Given the description of an element on the screen output the (x, y) to click on. 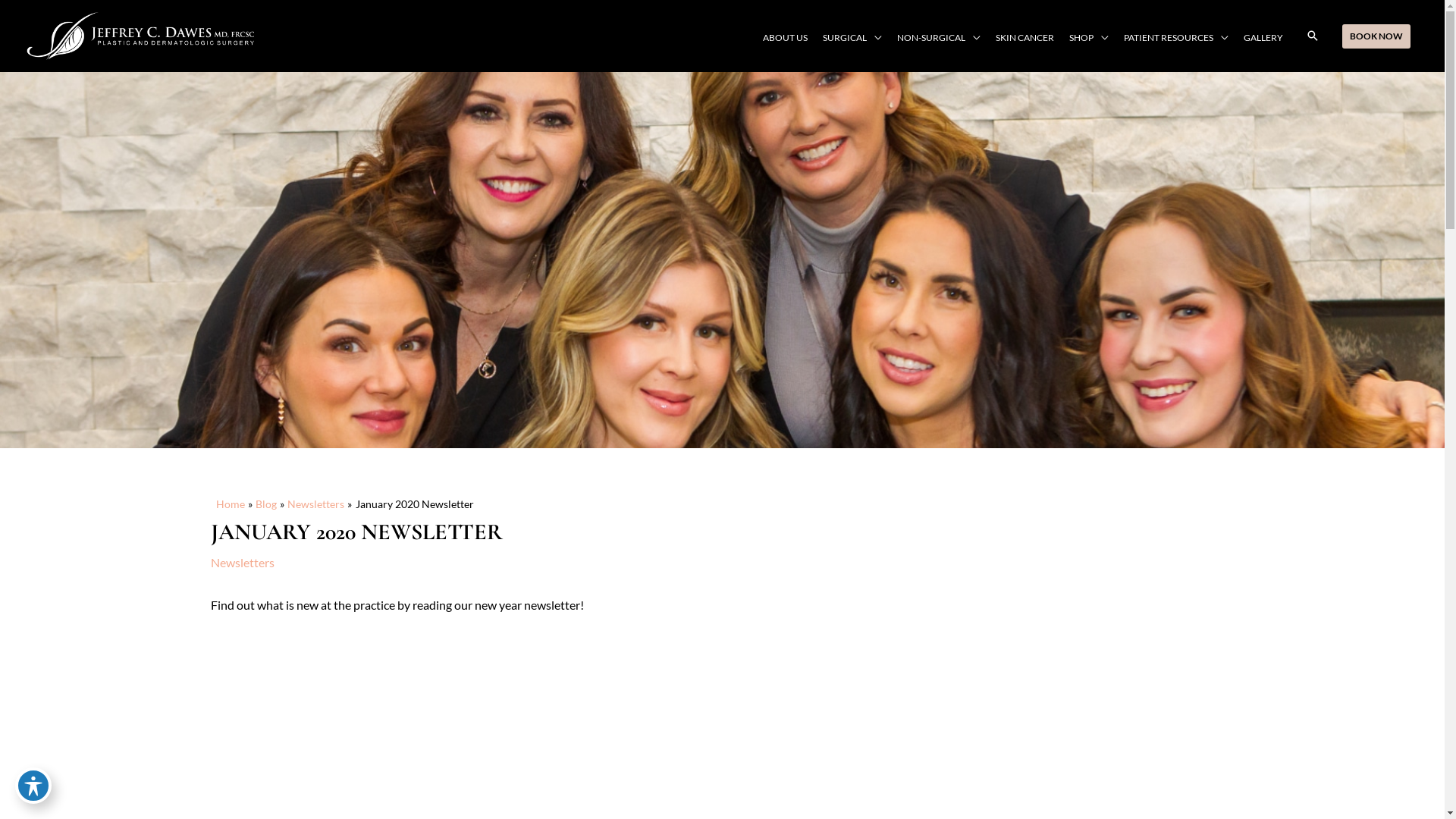
Home Element type: text (229, 503)
GALLERY Element type: text (1263, 37)
Newsletters Element type: text (242, 562)
ABOUT US Element type: text (785, 37)
Newsletters Element type: text (315, 503)
SHOP Element type: text (1088, 37)
SKIN CANCER Element type: text (1024, 37)
PATIENT RESOURCES Element type: text (1176, 37)
BOOK NOW Element type: text (1376, 36)
NON-SURGICAL Element type: text (938, 37)
SURGICAL Element type: text (852, 37)
Blog Element type: text (265, 503)
